Given the description of an element on the screen output the (x, y) to click on. 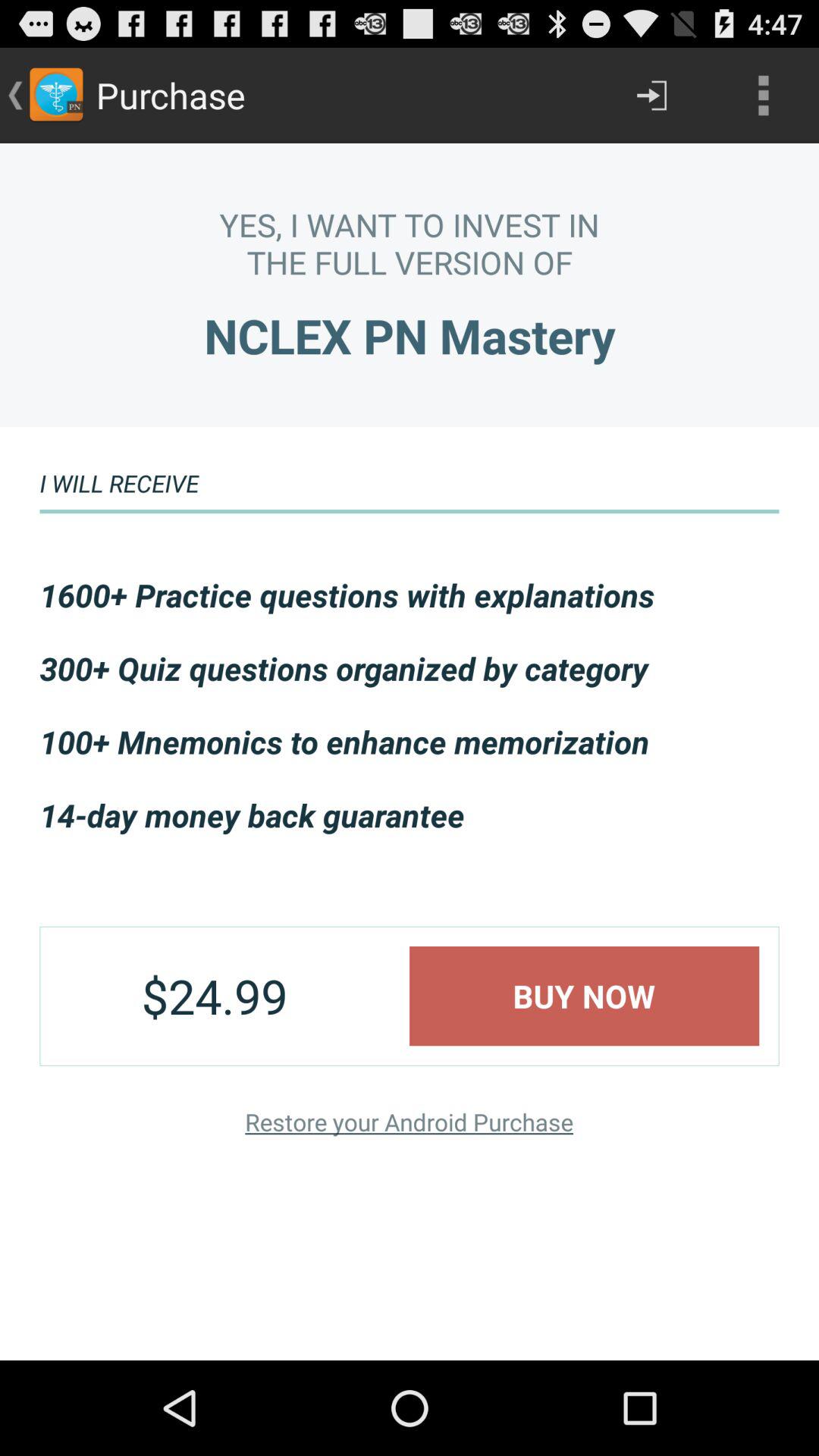
turn on item next to the purchase (651, 95)
